Given the description of an element on the screen output the (x, y) to click on. 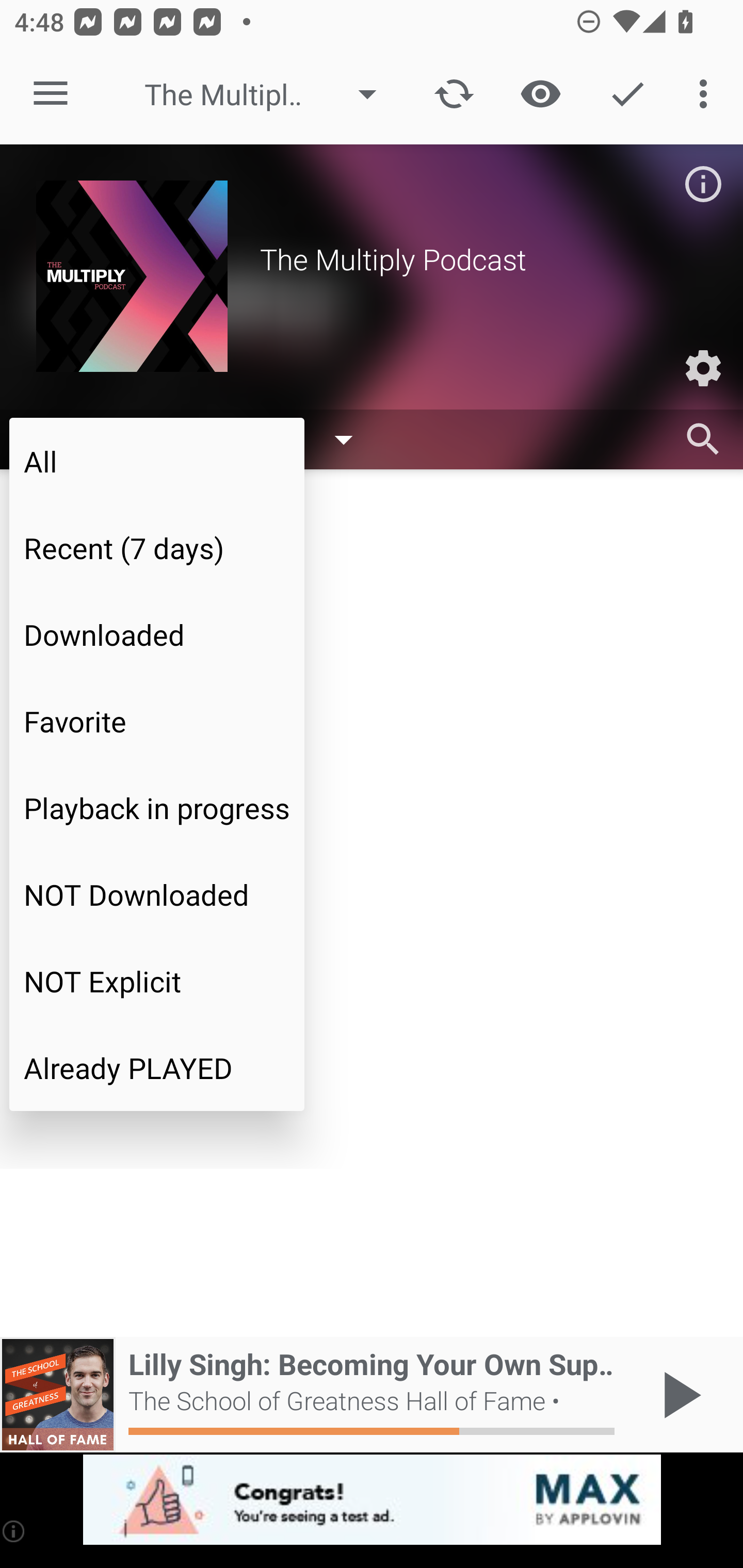
All (156, 460)
Recent (7 days) (156, 547)
Downloaded (156, 634)
Favorite (156, 721)
Playback in progress (156, 808)
NOT Downloaded (156, 894)
NOT Explicit (156, 980)
Already PLAYED (156, 1067)
